Given the description of an element on the screen output the (x, y) to click on. 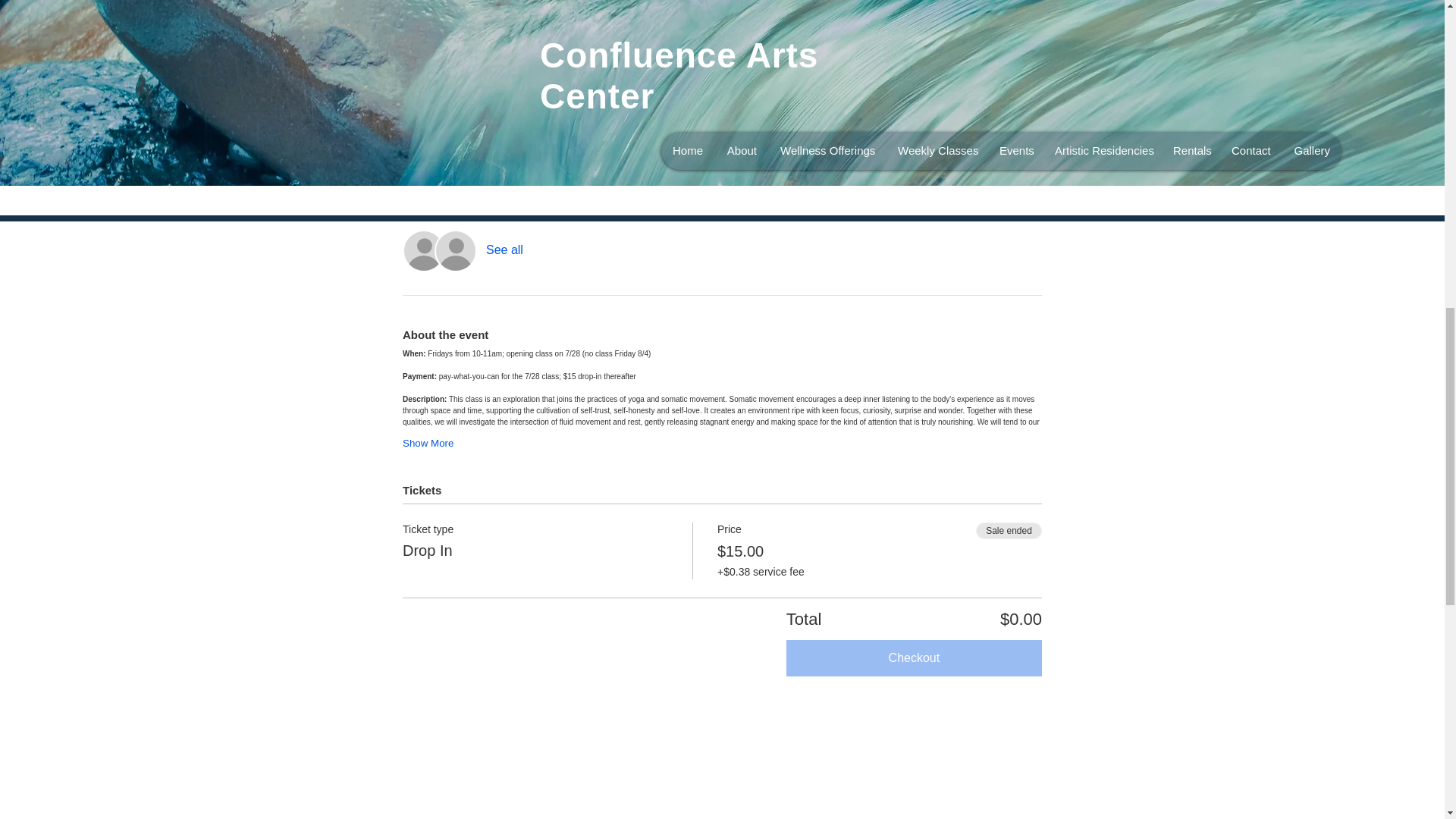
Checkout (914, 657)
Map (721, 778)
See all (504, 249)
Show More (427, 443)
